Given the description of an element on the screen output the (x, y) to click on. 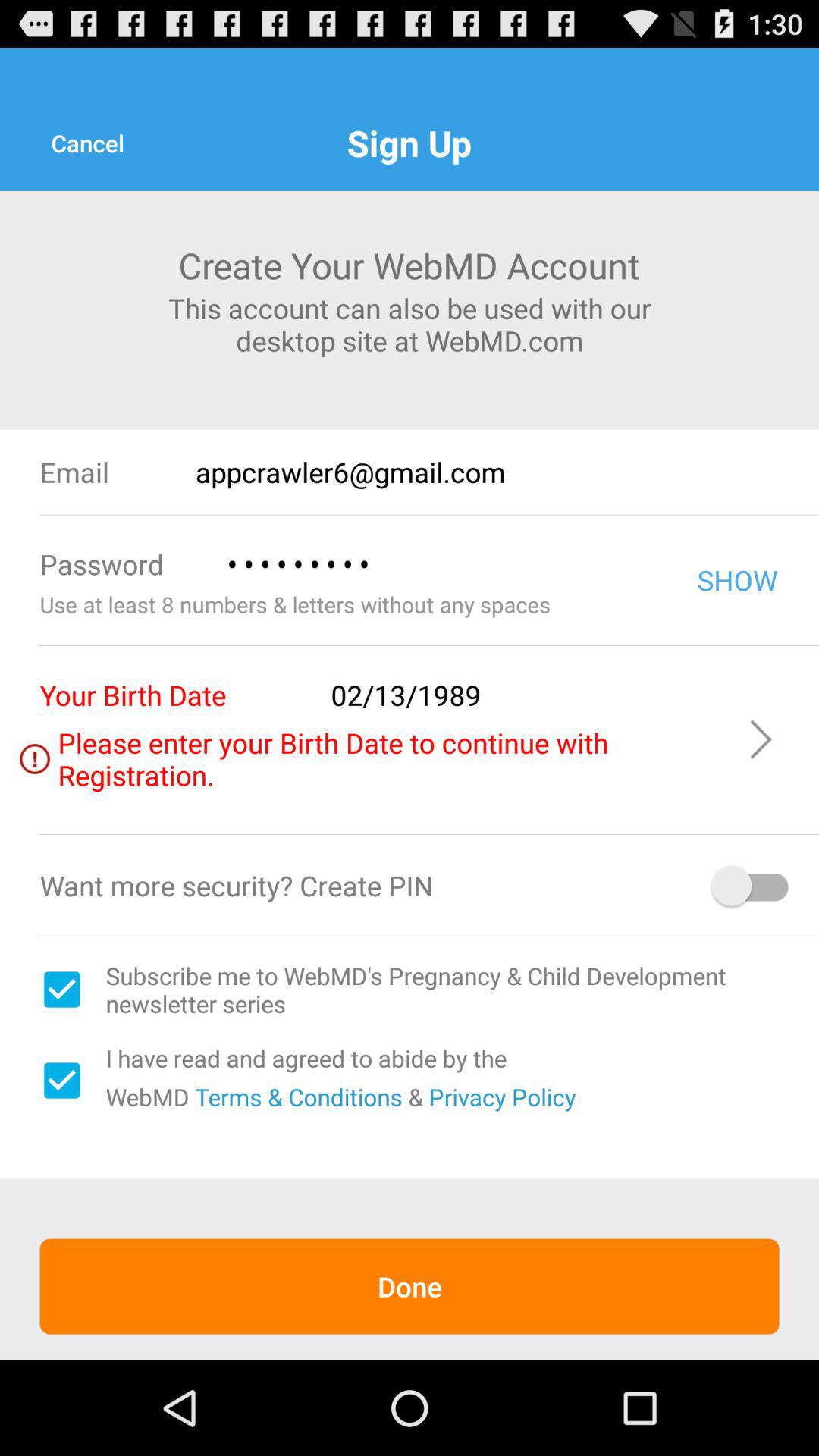
click 02/13/1989 (528, 694)
